Given the description of an element on the screen output the (x, y) to click on. 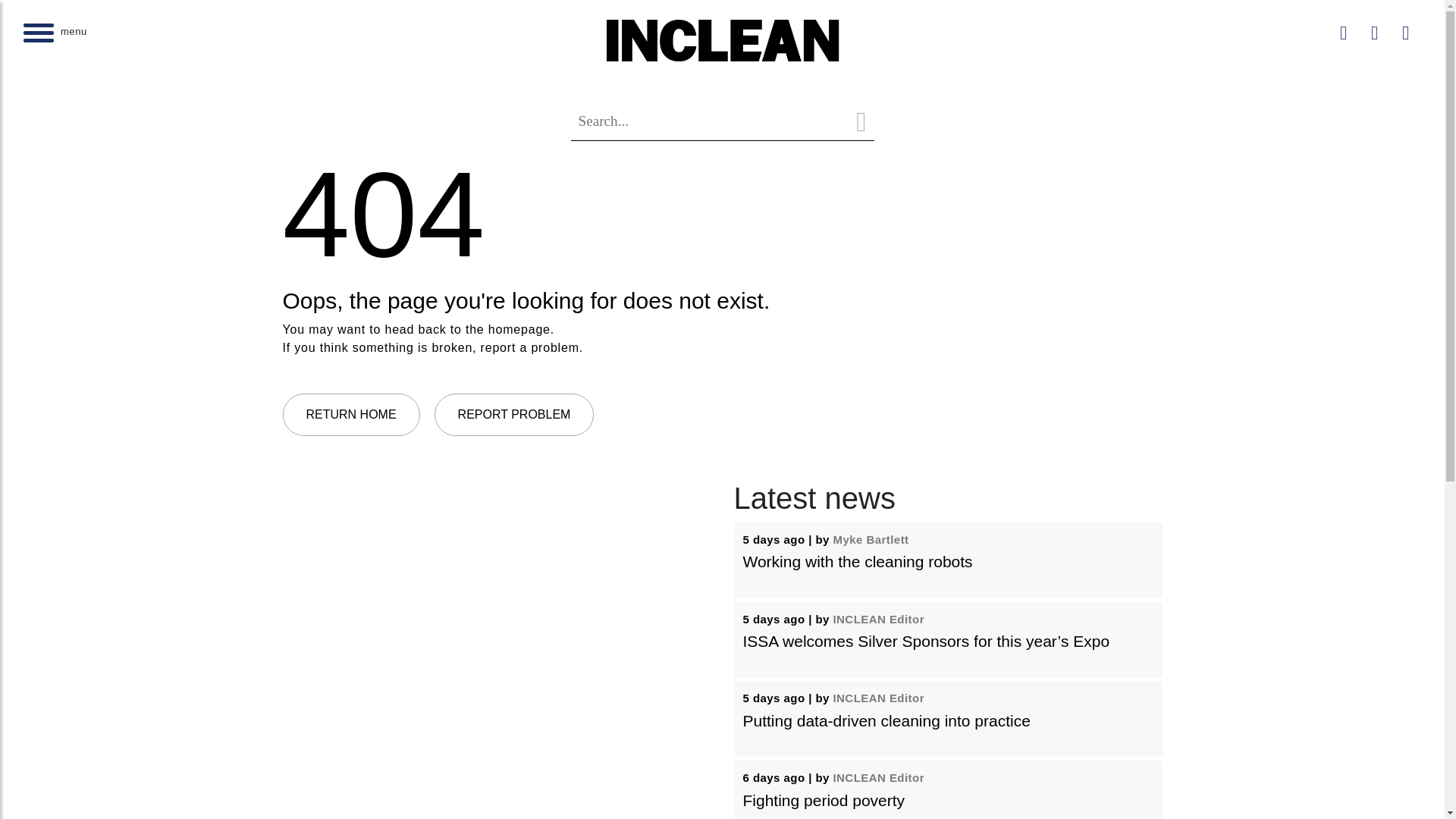
INCLEAN Editor (877, 777)
REPORT PROBLEM (513, 414)
INCLEAN Editor (877, 618)
RETURN HOME (350, 414)
Myke Bartlett (870, 539)
Putting data-driven cleaning into practice (886, 720)
Fighting period poverty (823, 800)
INCLEAN Editor (877, 697)
Working with the cleaning robots (857, 561)
